Given the description of an element on the screen output the (x, y) to click on. 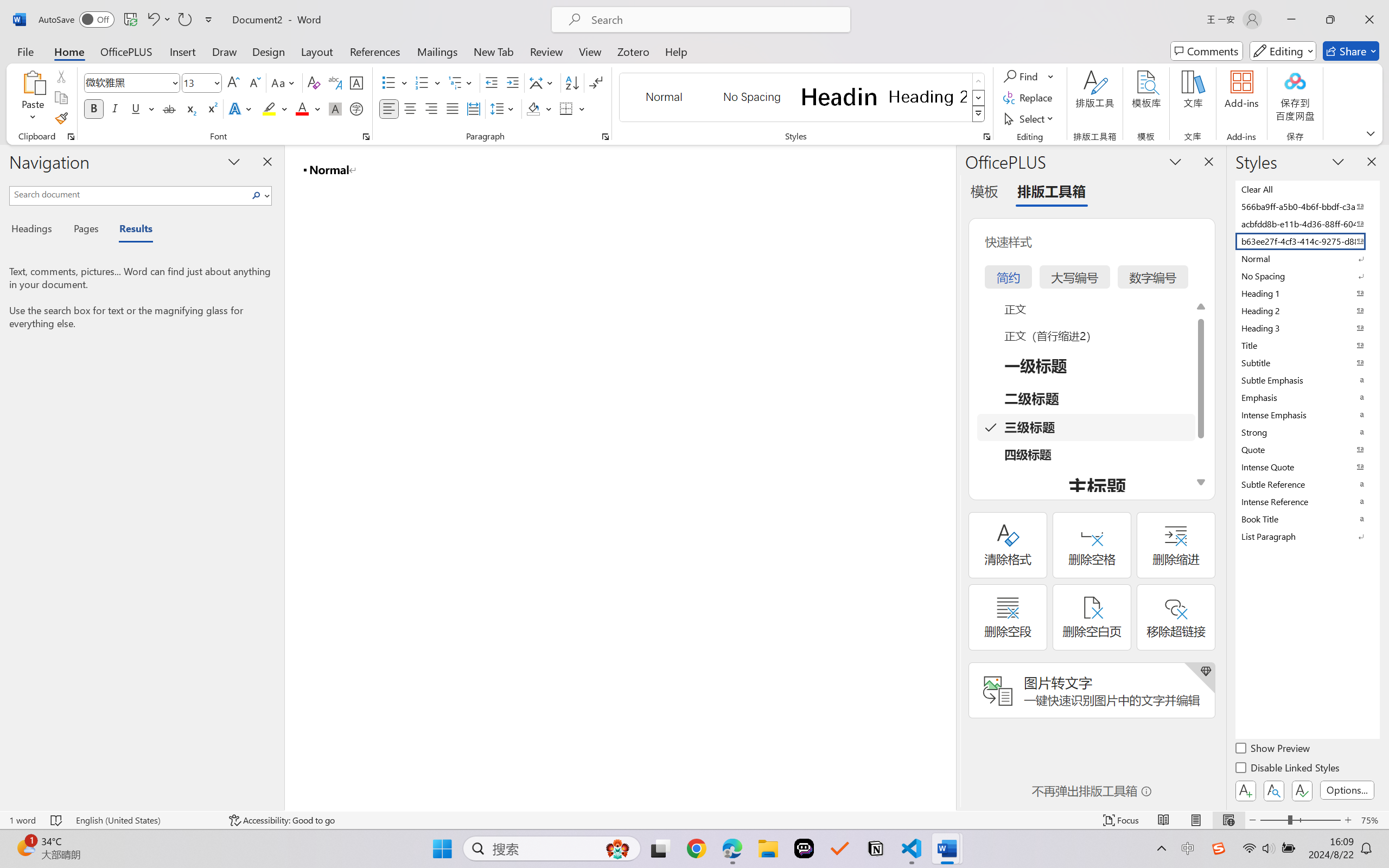
Spelling and Grammar Check No Errors (56, 819)
Clear Formatting (313, 82)
Styles... (986, 136)
Results (130, 229)
Zoom (1300, 819)
Heading 3 (1306, 327)
Underline (135, 108)
Paste (33, 81)
Draw (224, 51)
Line and Paragraph Spacing (503, 108)
Underline (142, 108)
